Given the description of an element on the screen output the (x, y) to click on. 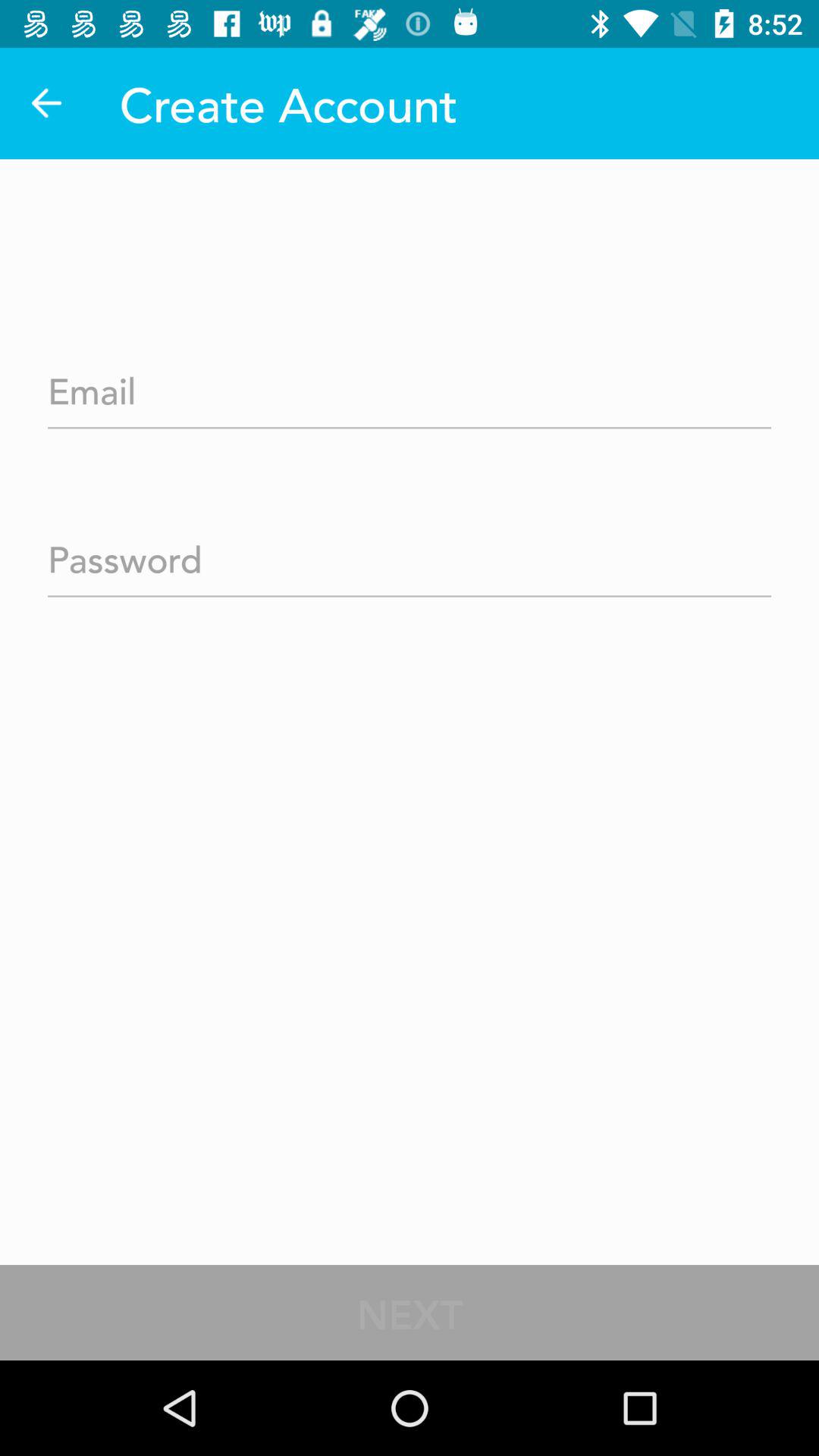
enter your email (409, 386)
